Given the description of an element on the screen output the (x, y) to click on. 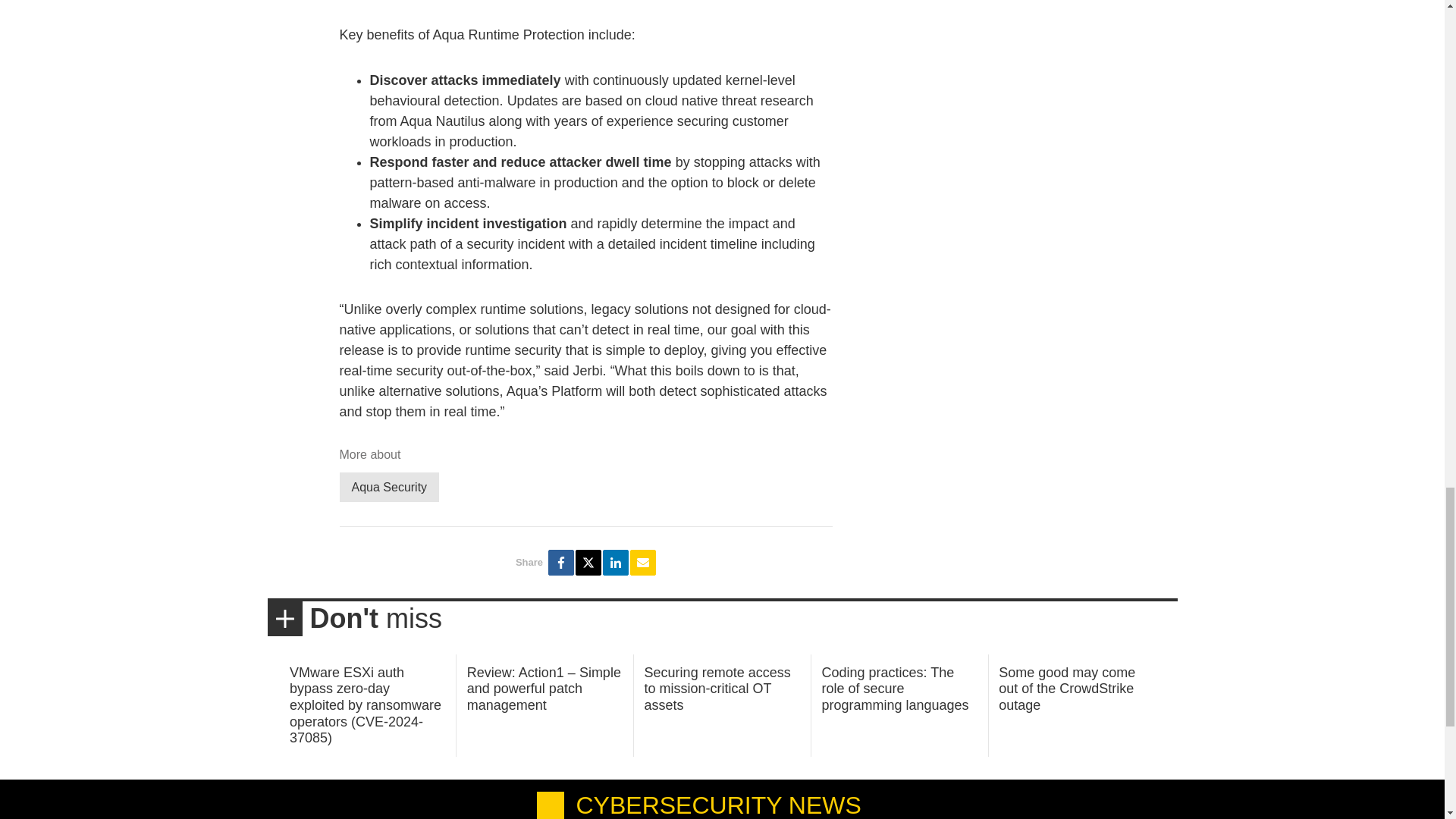
Coding practices: The role of secure programming languages (894, 688)
Aqua Security (389, 487)
Securing remote access to mission-critical OT assets (717, 688)
Aqua Security (389, 487)
